Given the description of an element on the screen output the (x, y) to click on. 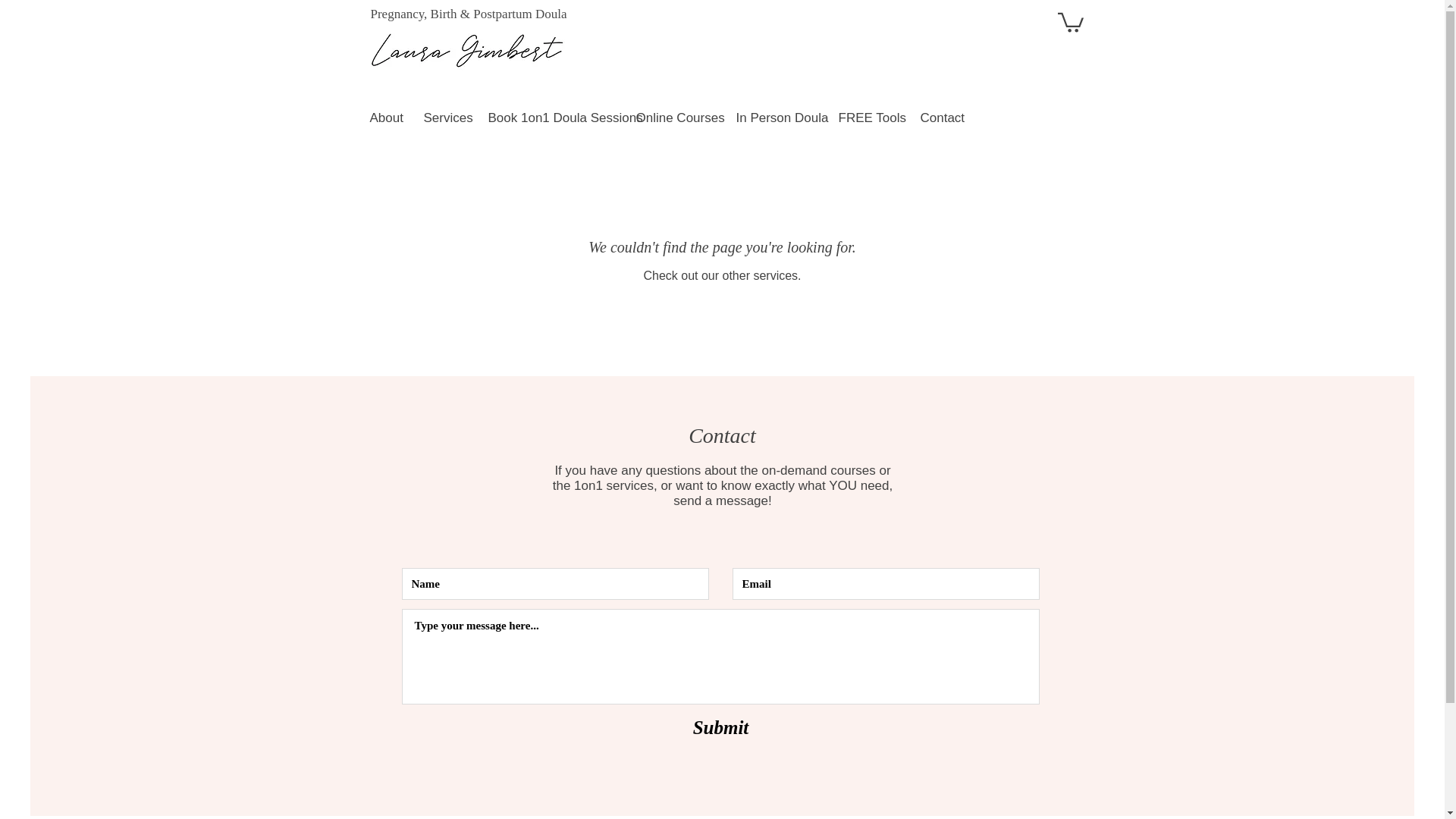
Services (444, 117)
Submit (720, 726)
FREE Tools (867, 117)
About (385, 117)
In Person Doula (776, 117)
Contact (940, 117)
Book 1on1 Doula Sessions (550, 117)
Online Courses (674, 117)
